Given the description of an element on the screen output the (x, y) to click on. 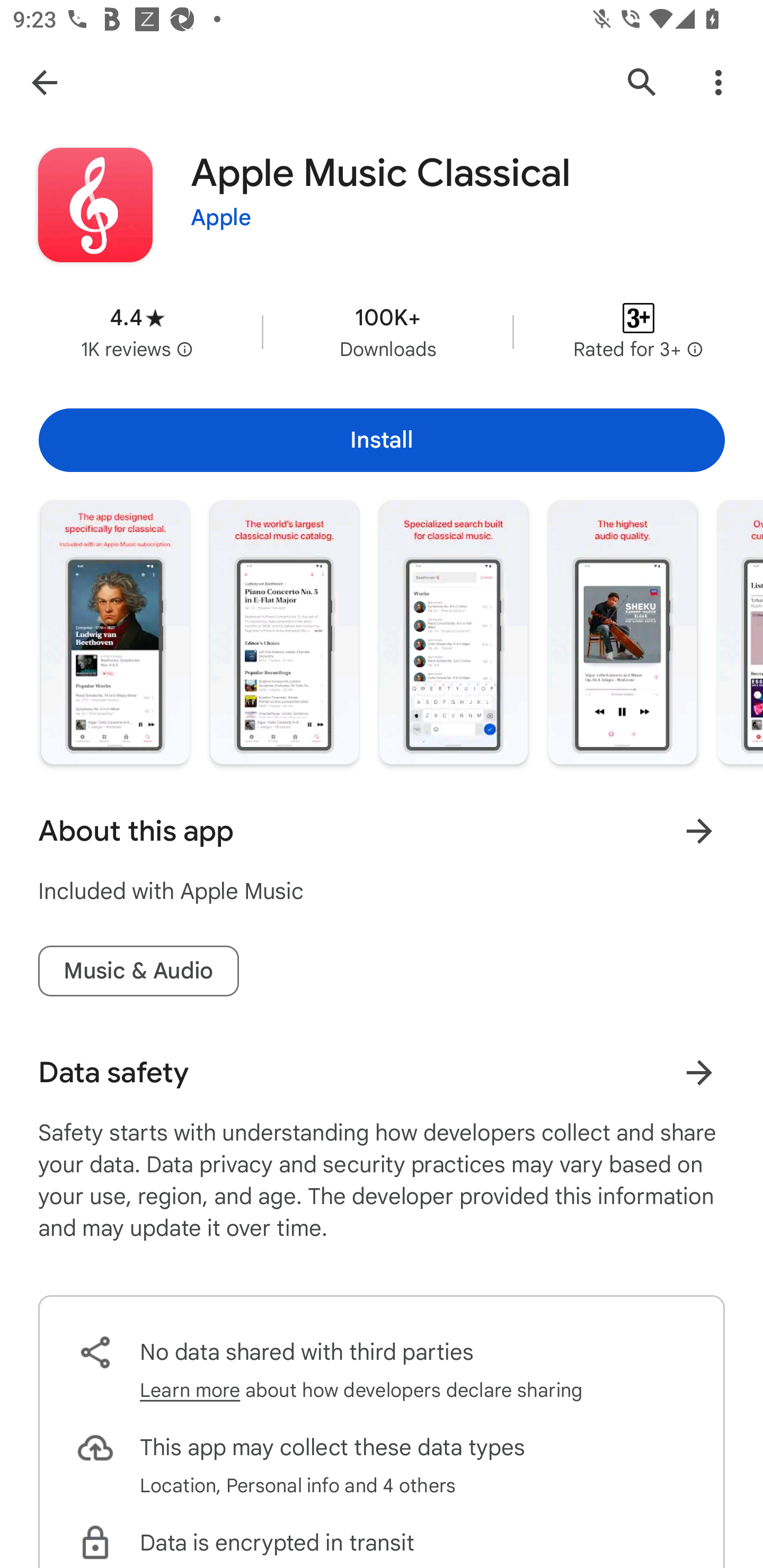
Navigate up (44, 81)
Search Google Play (642, 81)
More Options (718, 81)
Apple (221, 217)
Average rating 4.4 stars in 1 thousand reviews (137, 331)
Content rating Rated for 3+ (638, 331)
Install (381, 439)
Screenshot "1" of "6" (115, 632)
Screenshot "2" of "6" (284, 632)
Screenshot "3" of "6" (453, 632)
Screenshot "4" of "6" (622, 632)
About this app Learn more About this app (381, 830)
Learn more About this app (699, 830)
Music & Audio tag (138, 970)
Data safety Learn more about data safety (381, 1072)
Learn more about data safety (699, 1072)
Learn more about how developers declare sharing (361, 1389)
